Given the description of an element on the screen output the (x, y) to click on. 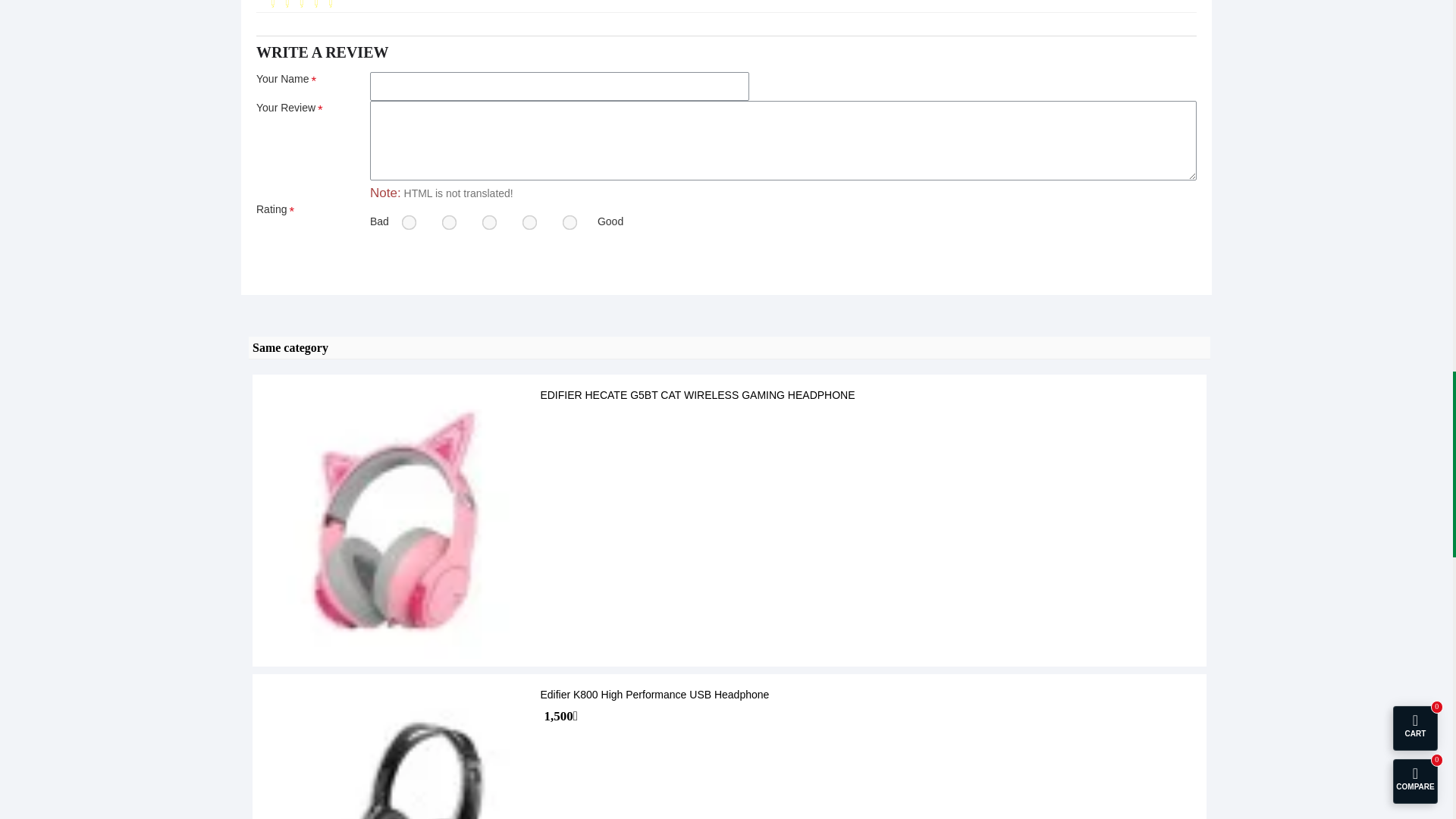
 Edifier K800 High Performance USB Headphone (397, 750)
1 (406, 220)
4 (527, 220)
2 (446, 220)
 EDIFIER HECATE G5BT CAT WIRELESS GAMING HEADPHONE (397, 520)
5 (567, 220)
3 (486, 220)
